Given the description of an element on the screen output the (x, y) to click on. 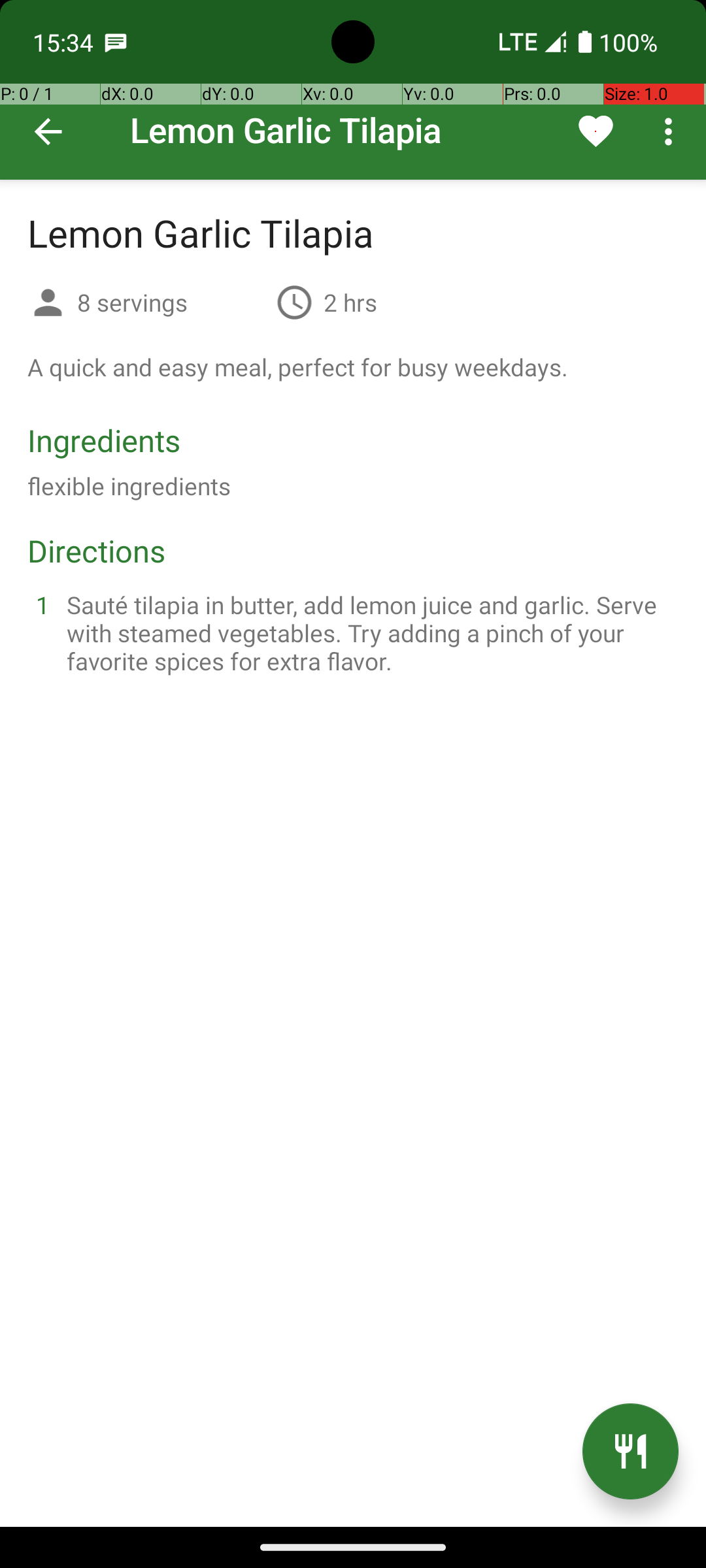
Sauté tilapia in butter, add lemon juice and garlic. Serve with steamed vegetables. Try adding a pinch of your favorite spices for extra flavor. Element type: android.widget.TextView (368, 632)
